Given the description of an element on the screen output the (x, y) to click on. 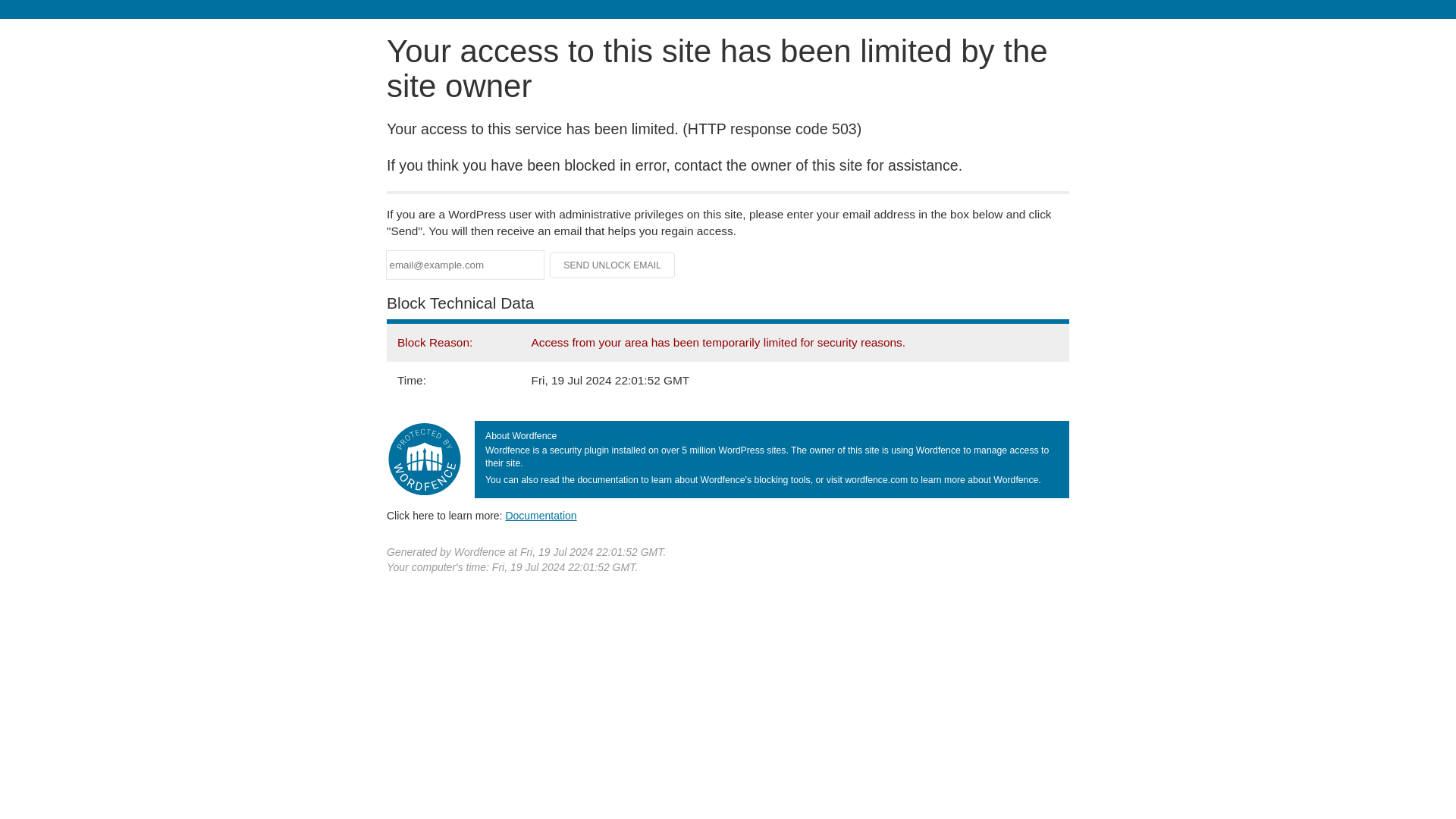
Documentation (540, 515)
Send Unlock Email (612, 265)
Send Unlock Email (612, 265)
